Given the description of an element on the screen output the (x, y) to click on. 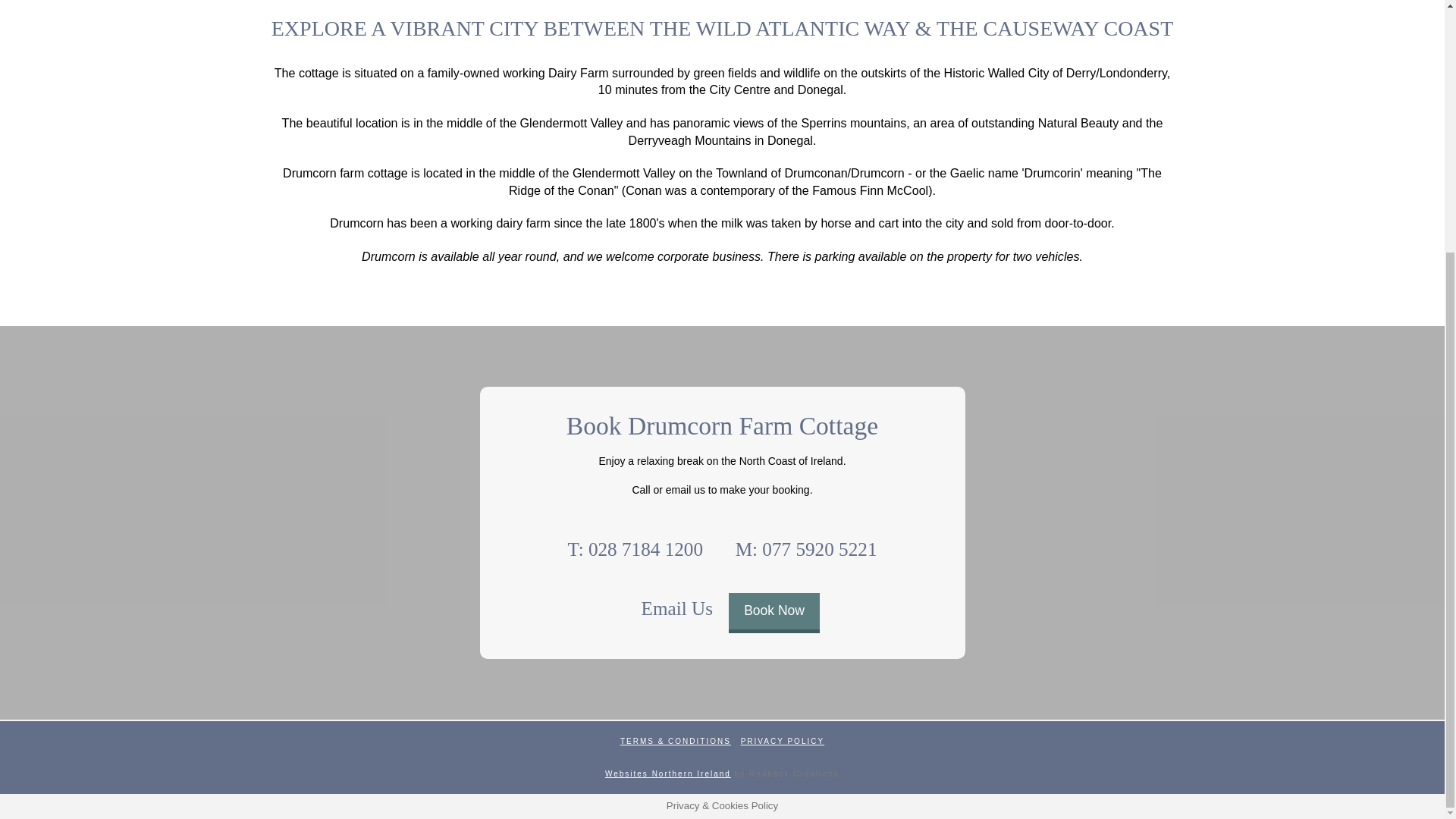
Book Now (774, 612)
T: 028 7184 1200 (635, 548)
PRIVACY POLICY (782, 741)
Email Us (676, 607)
Websites Northern Ireland (667, 773)
M: 077 5920 5221 (805, 548)
